Given the description of an element on the screen output the (x, y) to click on. 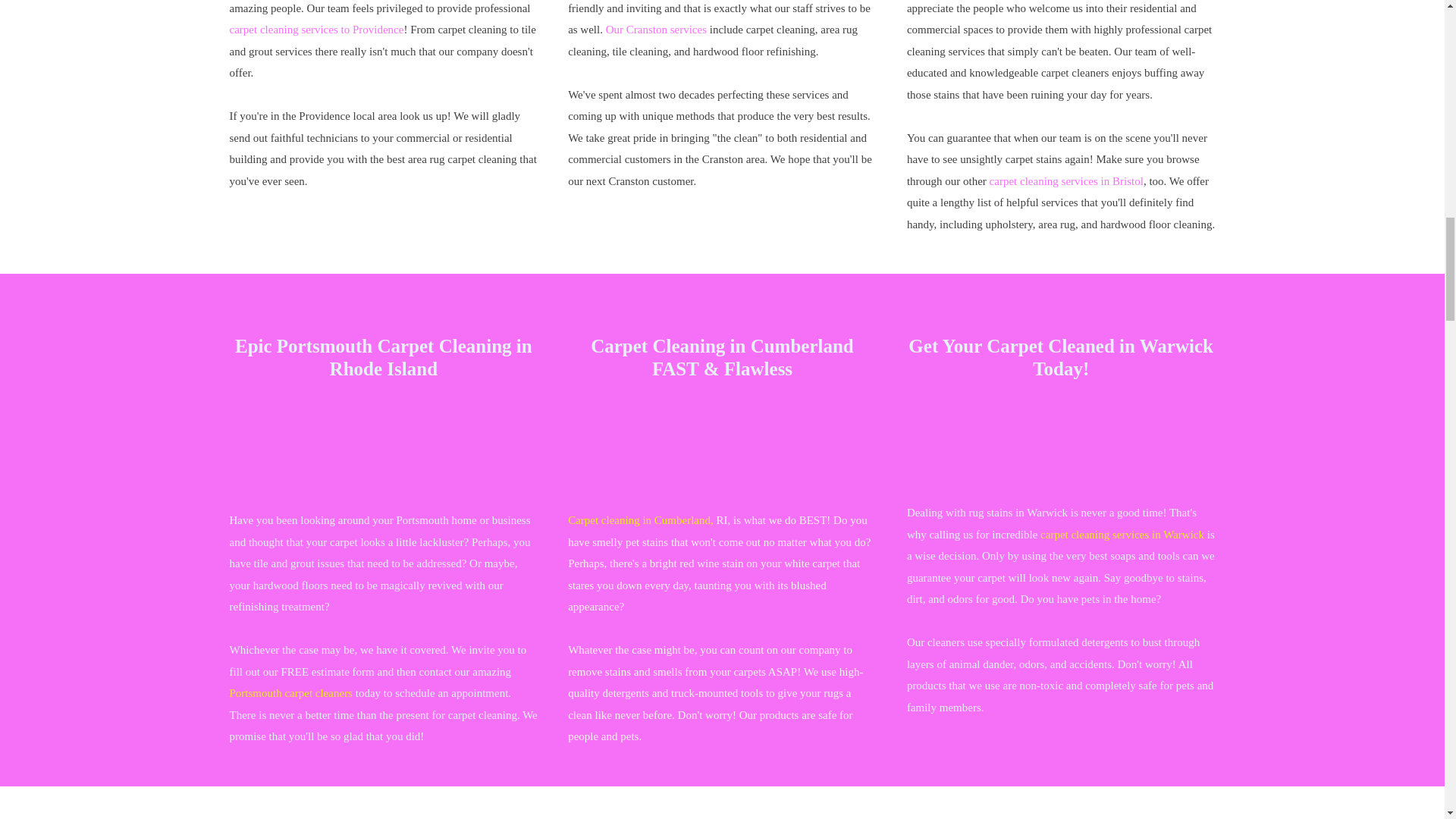
carpet cleaning services to Providence (317, 29)
Portsmouth carpet cleaners (291, 693)
carpet cleaning services in Bristol (1066, 181)
carpet cleaning services in Warwick (1122, 535)
Carpet cleaning in Cumberland, (640, 520)
Our Cranston services (655, 29)
